Given the description of an element on the screen output the (x, y) to click on. 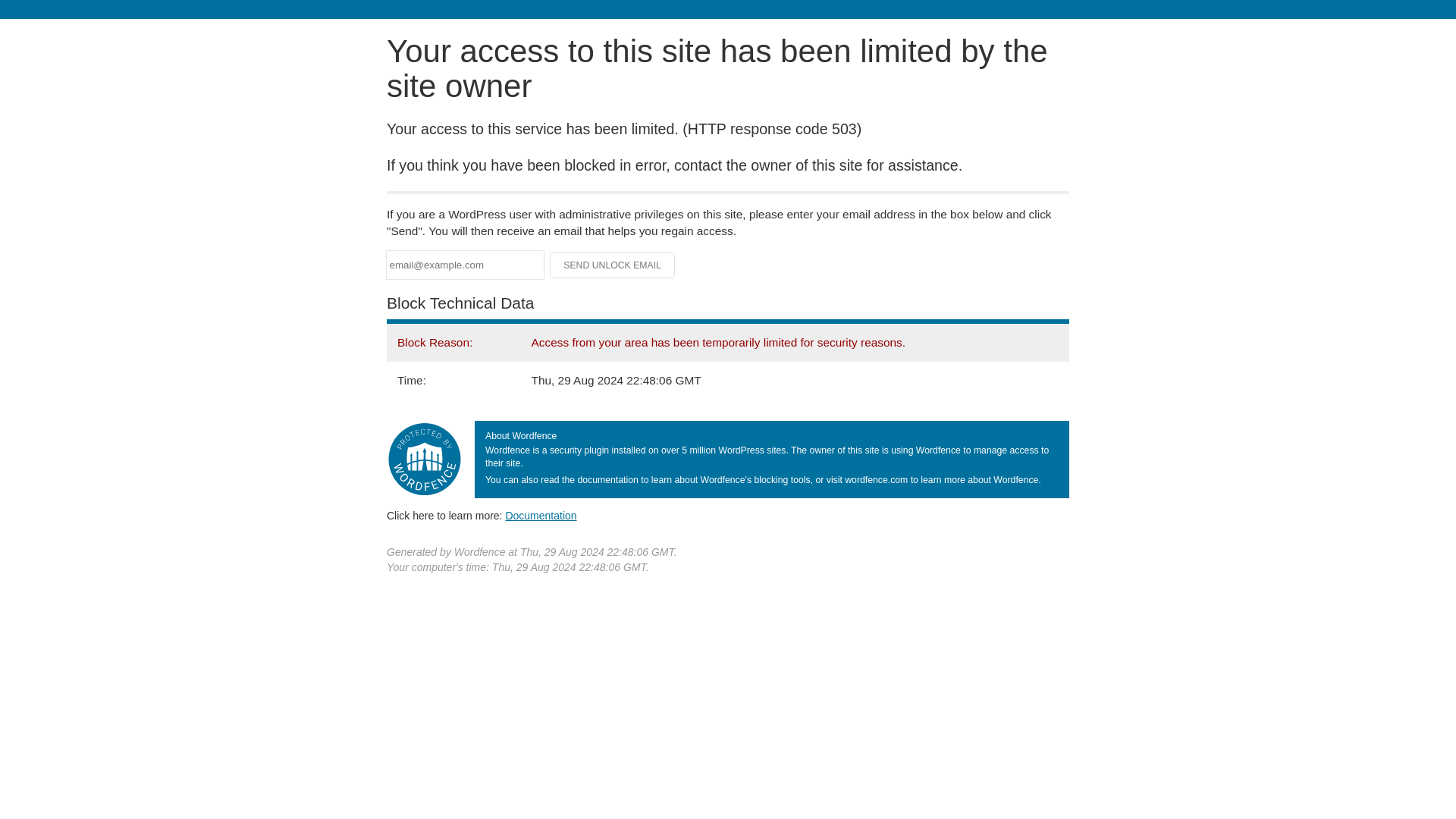
Send Unlock Email (612, 265)
Documentation (540, 515)
Send Unlock Email (612, 265)
